Given the description of an element on the screen output the (x, y) to click on. 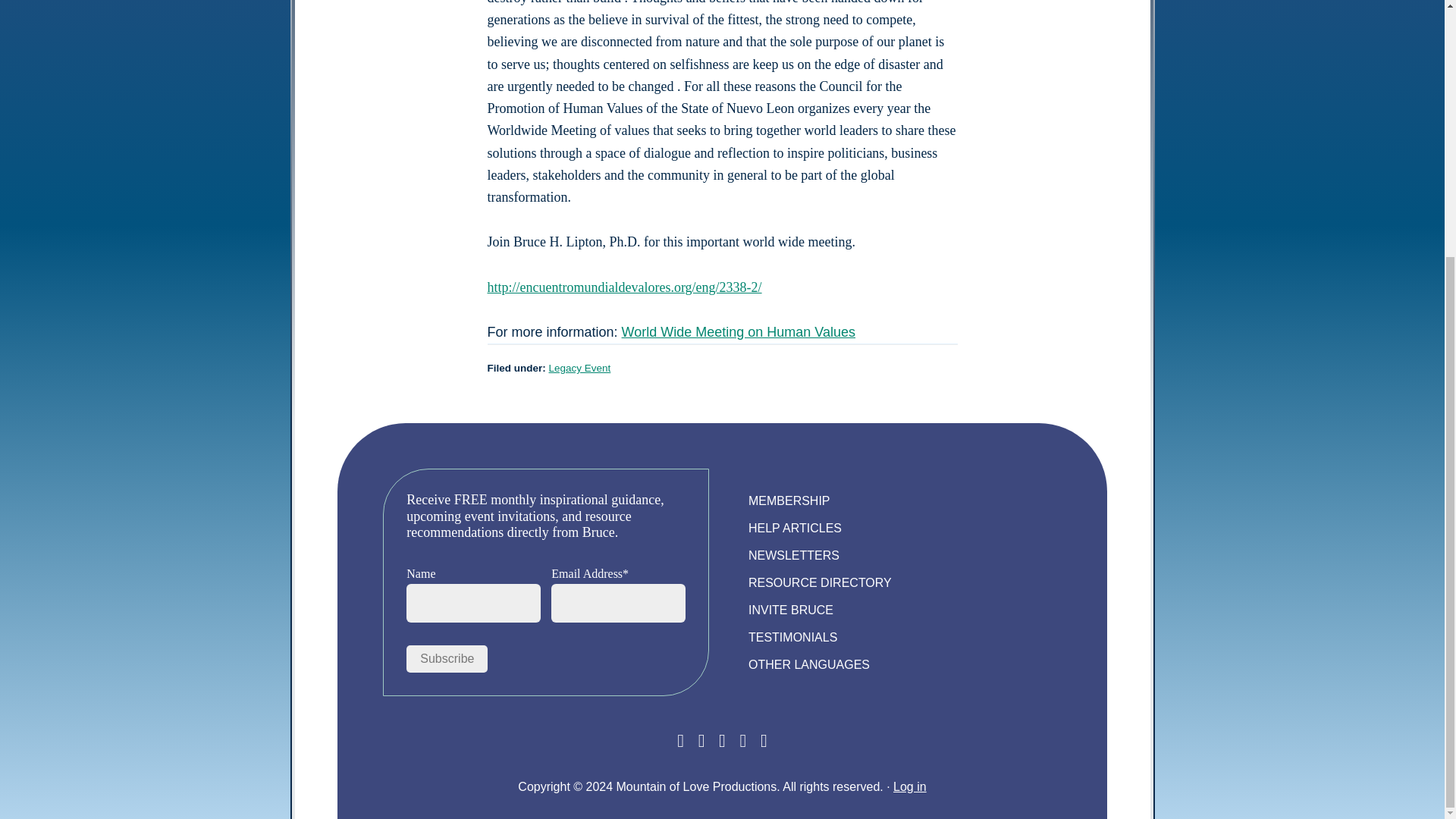
World Wide Meeting on Human Values (738, 331)
Legacy Event (579, 367)
MEMBERSHIP (788, 500)
Subscribe (446, 658)
Subscribe (446, 658)
